Given the description of an element on the screen output the (x, y) to click on. 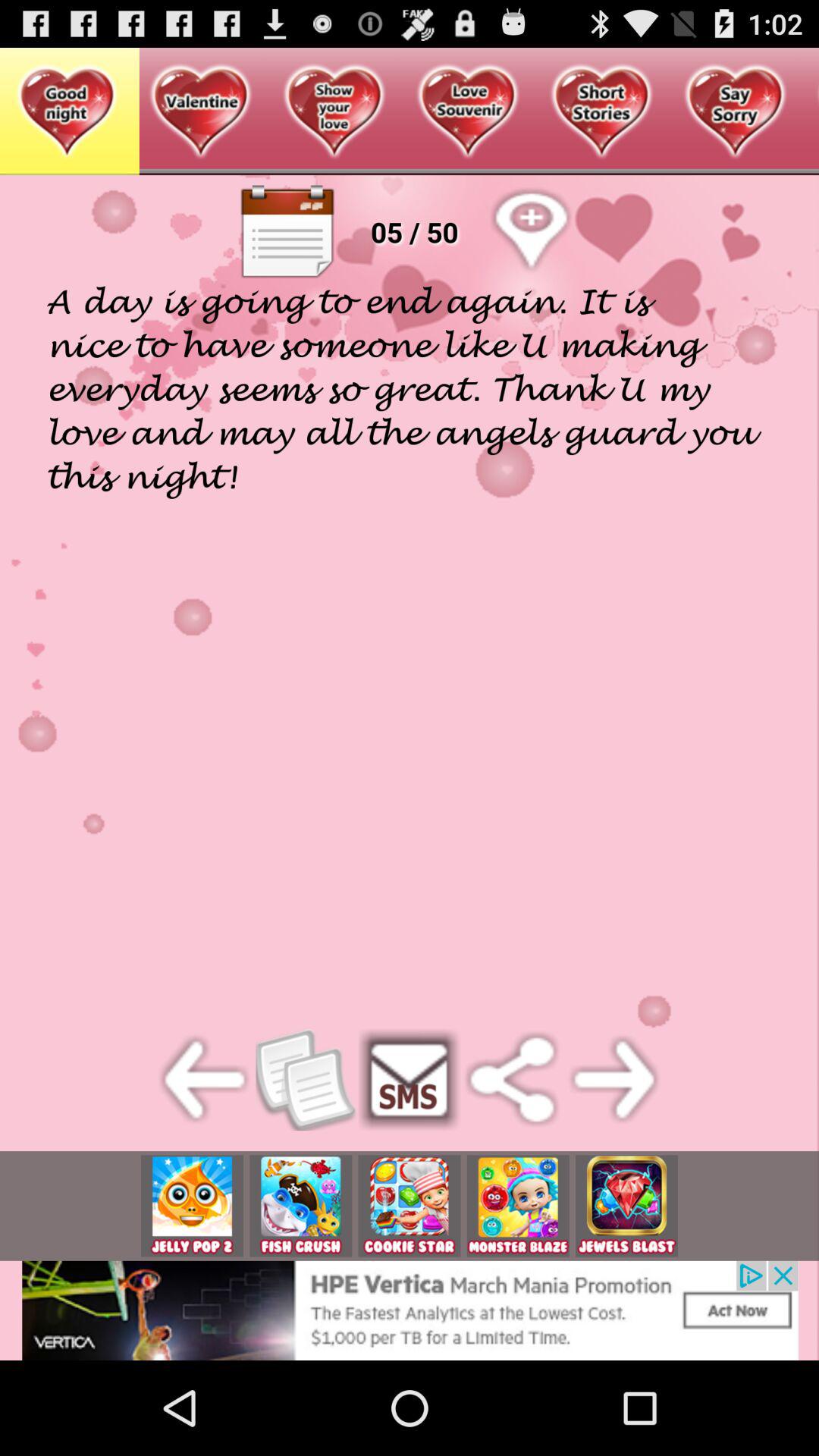
pick the option (409, 1205)
